Given the description of an element on the screen output the (x, y) to click on. 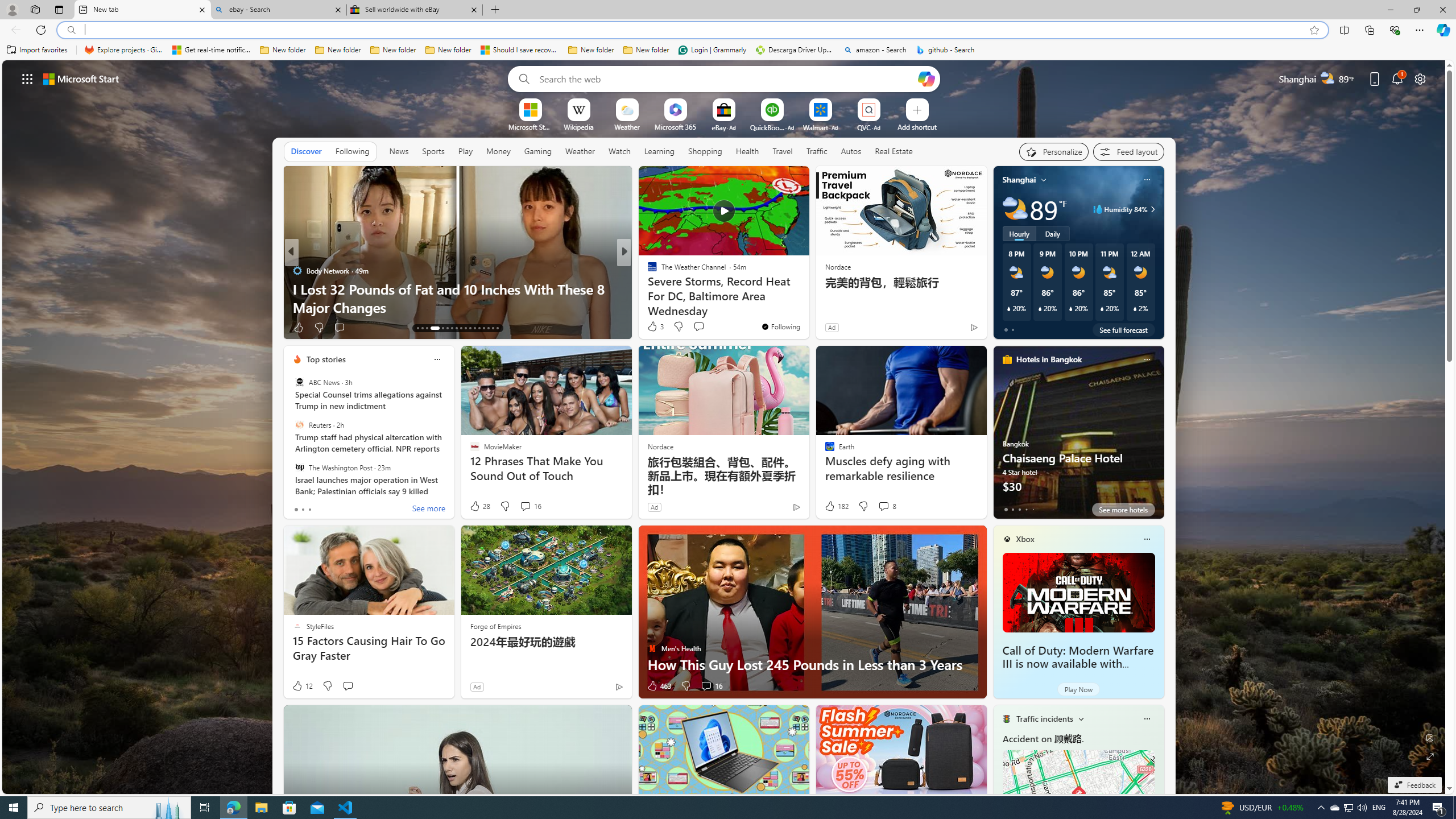
The Independent (296, 270)
ABC News (299, 382)
AutomationID: tab-14 (422, 328)
13 Like (652, 327)
AutomationID: tab-29 (497, 328)
tab-4 (1032, 509)
Sports (432, 151)
Special Personal Offer (807, 307)
View comments 16 Comment (705, 685)
tab-3 (1025, 509)
My location (1043, 179)
Money (498, 151)
Microsoft Start Sports (529, 126)
MUO (647, 288)
20 Activities People Over 60 Should Skip (807, 307)
